Given the description of an element on the screen output the (x, y) to click on. 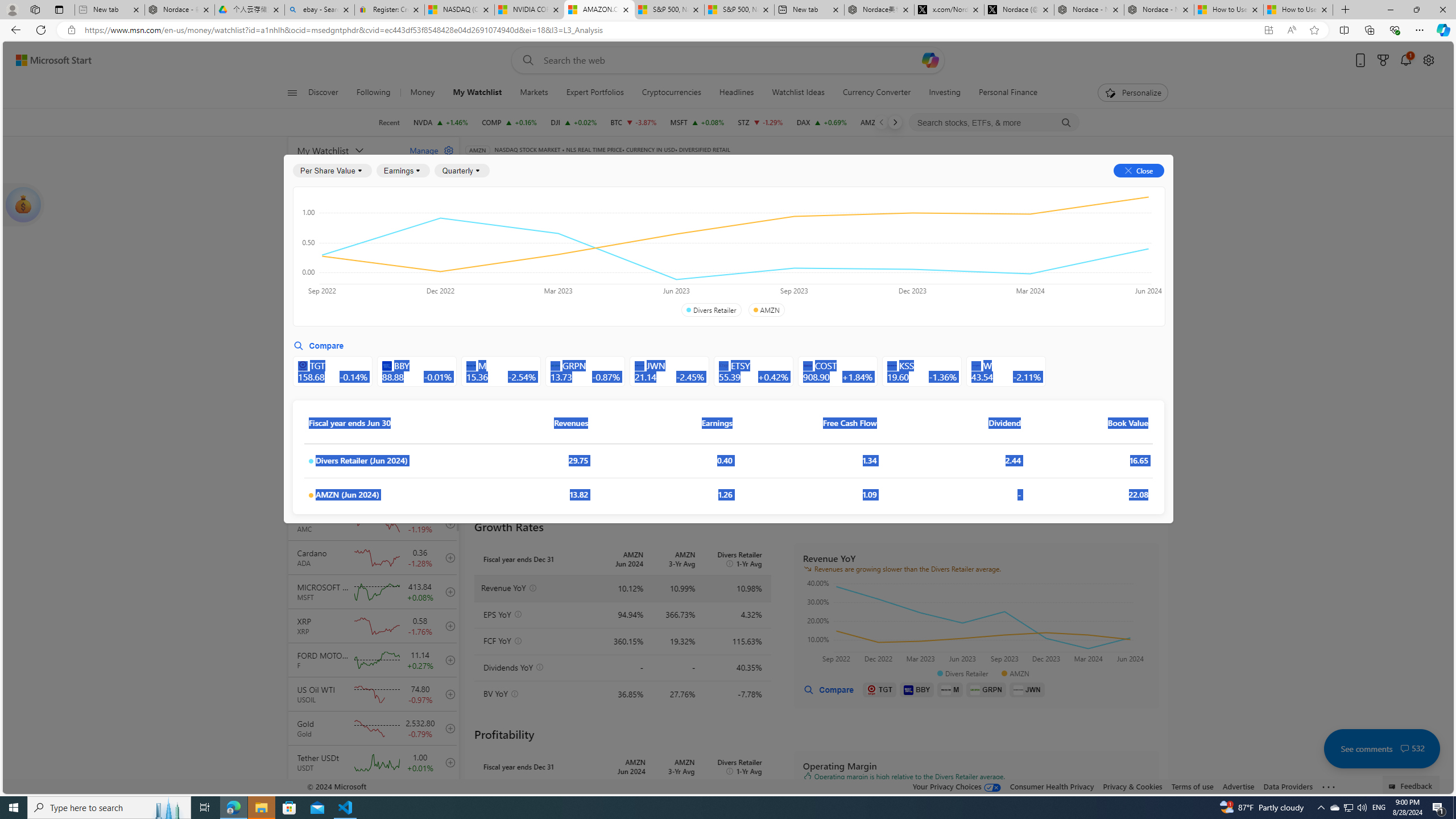
Advertise (1238, 786)
Recent (389, 121)
My Watchlist (477, 92)
AMZN (766, 310)
Register: Create a personal eBay account (389, 9)
GRPN (986, 689)
